Given the description of an element on the screen output the (x, y) to click on. 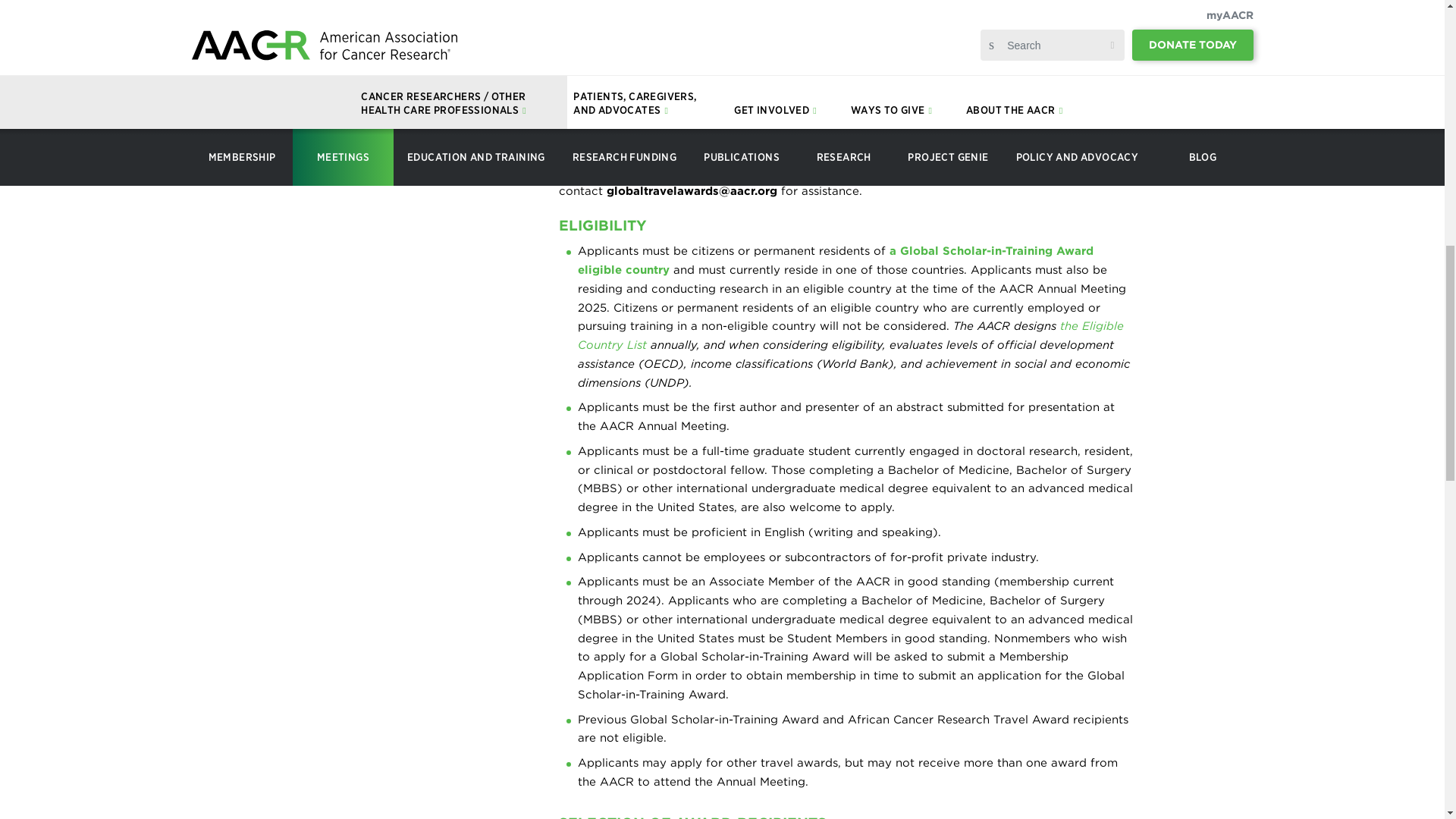
Search (44, 179)
